Given the description of an element on the screen output the (x, y) to click on. 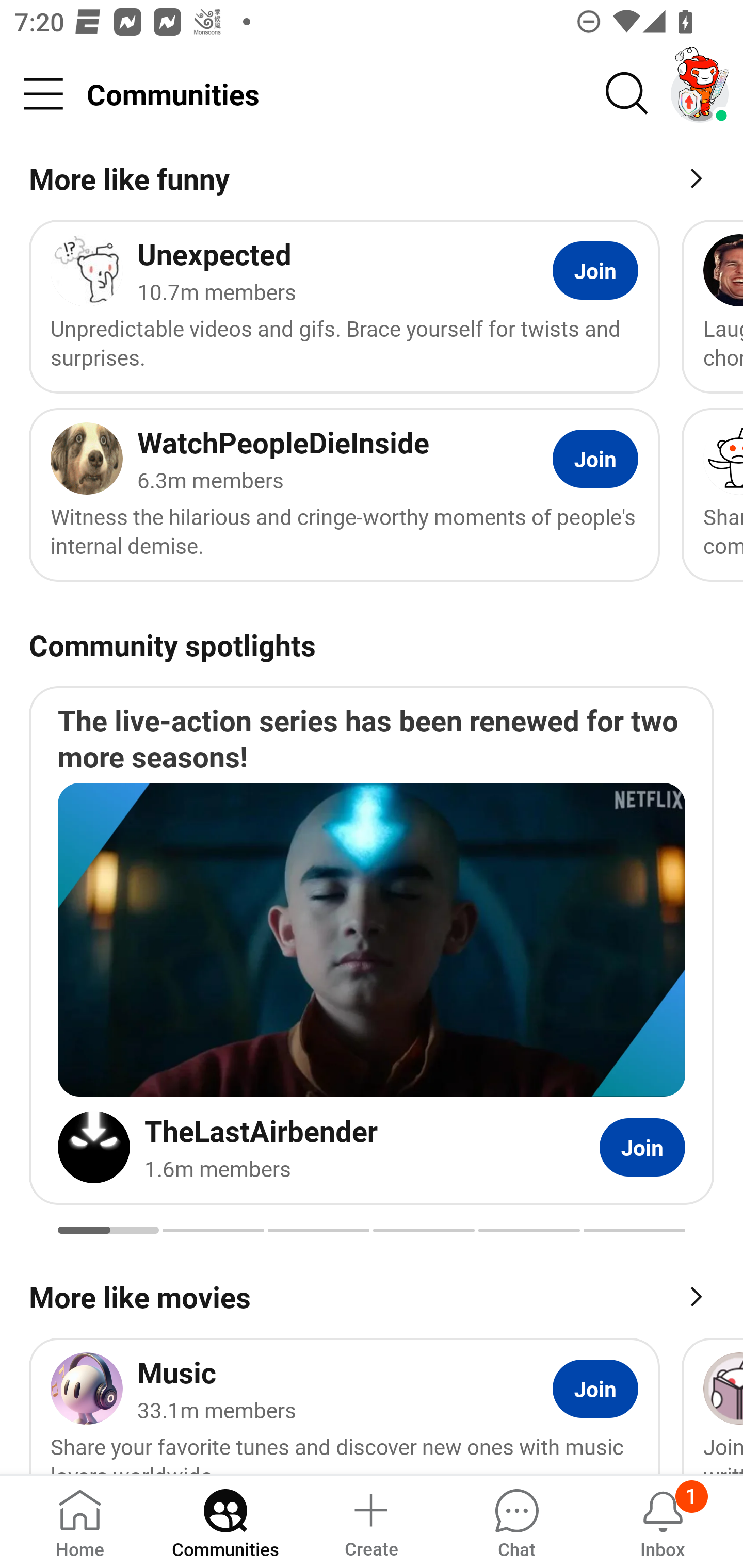
Community menu (43, 93)
Search (626, 93)
TestAppium002 account (699, 93)
More like funny View more (371, 181)
More like movies View more (371, 1294)
Home (80, 1520)
Communities (225, 1520)
Create a post Create (370, 1520)
Chat (516, 1520)
Inbox, has 1 notification 1 Inbox (662, 1520)
